Given the description of an element on the screen output the (x, y) to click on. 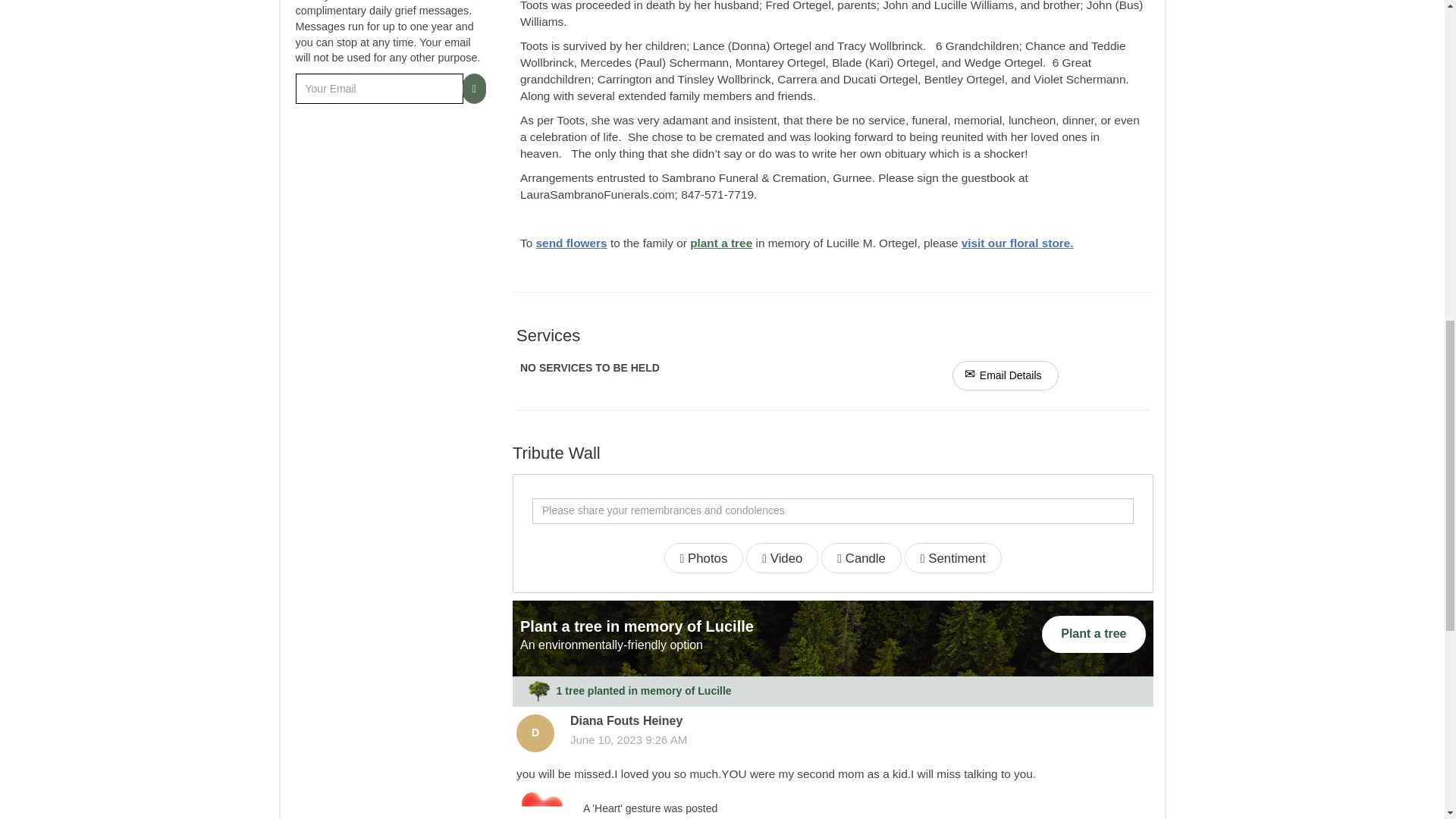
Diana Fouts Heiney (535, 733)
Email Details (1005, 375)
Plant a tree (1093, 633)
Plant a tree (1093, 633)
visit our floral store. (1017, 242)
plant a tree (721, 242)
send flowers (571, 242)
